Given the description of an element on the screen output the (x, y) to click on. 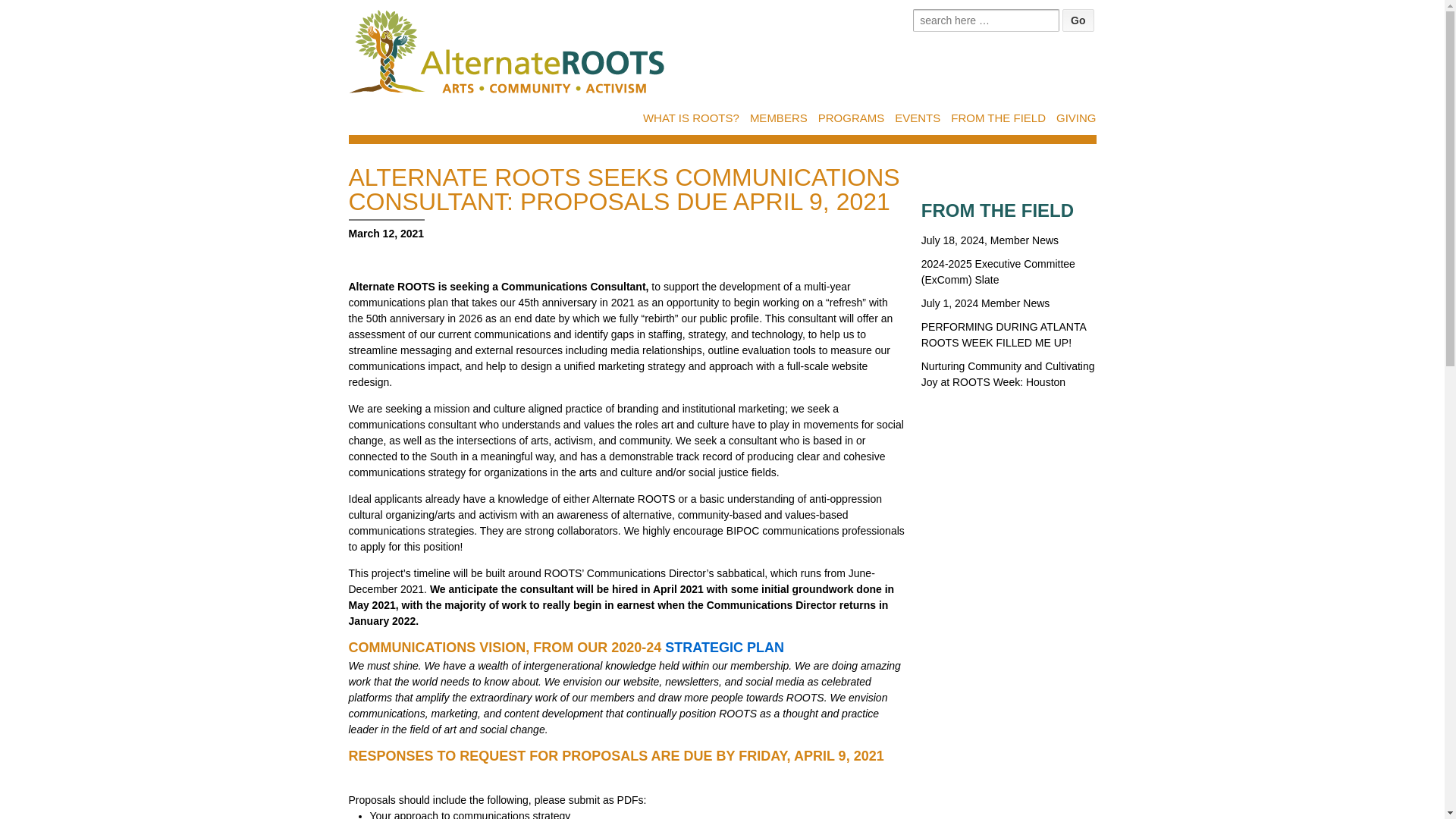
PERFORMING DURING ATLANTA ROOTS WEEK FILLED ME UP! (1003, 334)
Go (1077, 20)
PERFORMING DURING ATLANTA ROOTS WEEK FILLED ME UP! (1003, 334)
EVENTS (917, 117)
July 18, 2024, Member News (989, 240)
STRATEGIC PLAN (724, 647)
PROGRAMS (851, 117)
MEMBERS (778, 117)
July 18, 2024, Member News (989, 240)
WHAT IS ROOTS? (691, 117)
July 1, 2024 Member News (985, 303)
FROM THE FIELD (997, 117)
GIVING (1076, 117)
